Given the description of an element on the screen output the (x, y) to click on. 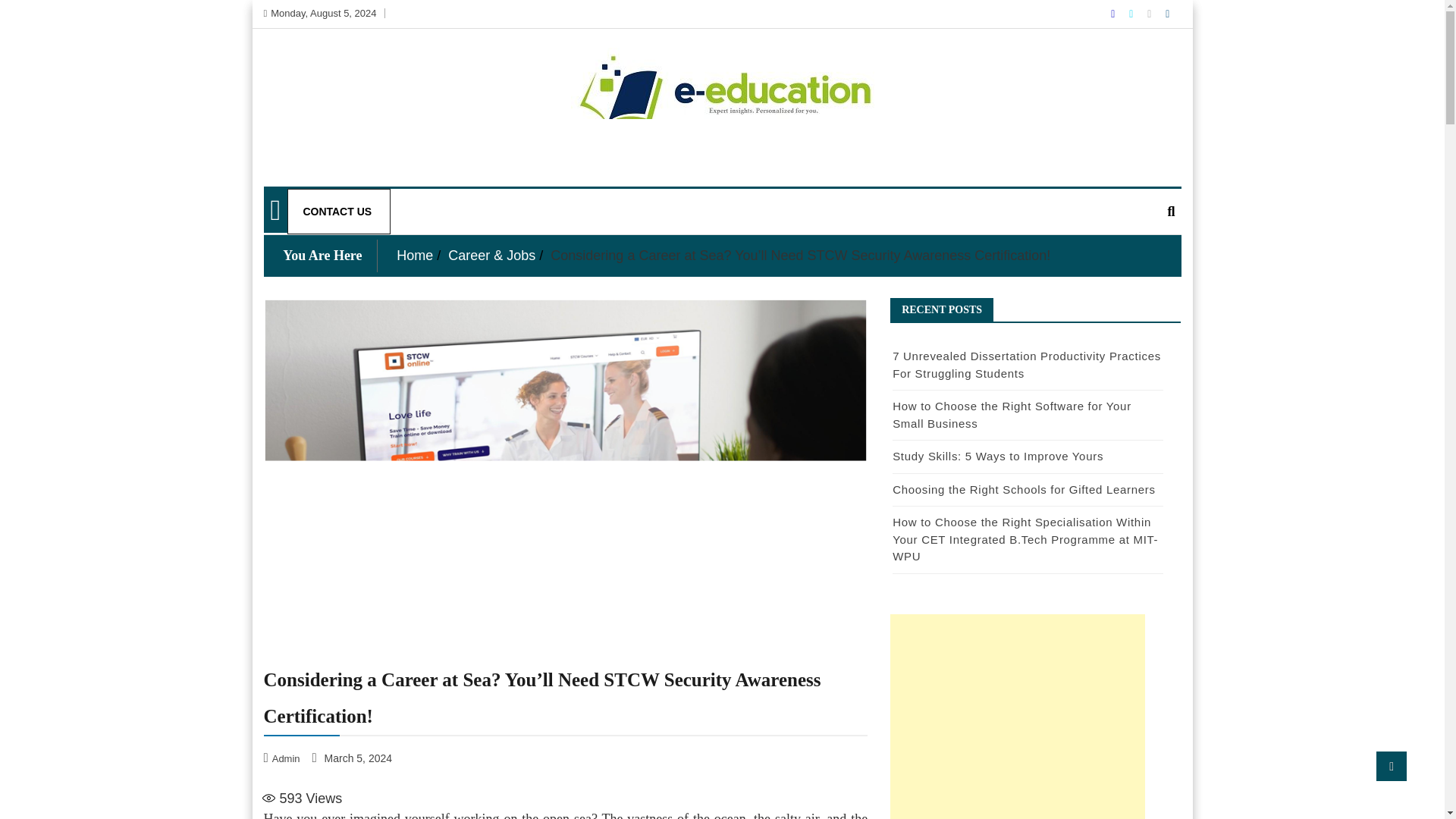
Choosing the Right Schools for Gifted Learners (1024, 488)
Admin (282, 757)
How to Choose the Right Software for Your Small Business (1011, 414)
Study Skills: 5 Ways to Improve Yours (997, 455)
March 5, 2024 (352, 757)
CONTACT US (336, 211)
education blog (348, 188)
Home (414, 255)
